Given the description of an element on the screen output the (x, y) to click on. 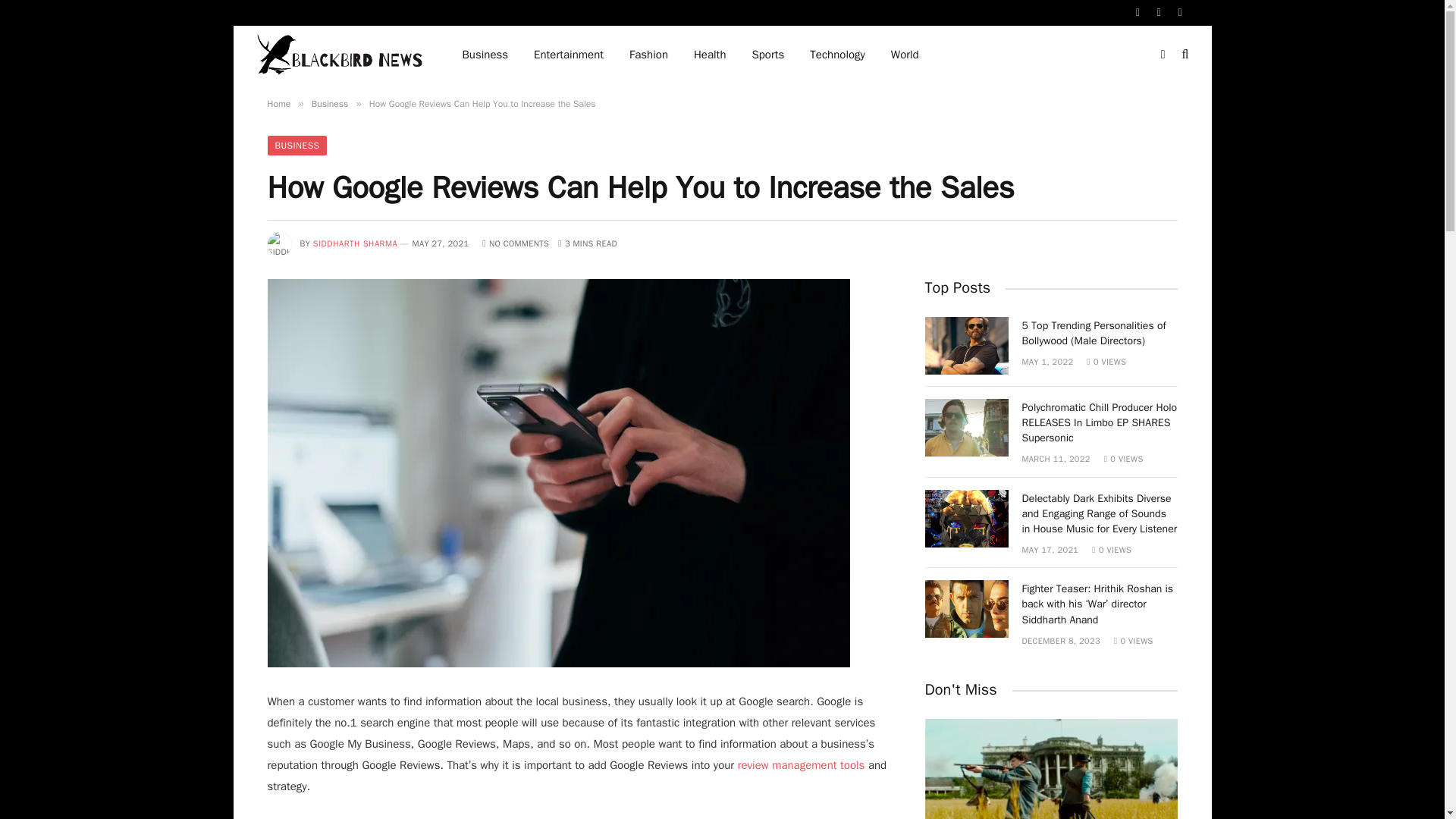
Sports (767, 54)
Posts by Siddharth Sharma (355, 243)
Business (329, 103)
Switch to Dark Design - easier on eyes. (1163, 54)
World (904, 54)
SIDDHARTH SHARMA (355, 243)
NO COMMENTS (514, 243)
Health (710, 54)
Fashion (648, 54)
BUSINESS (296, 145)
Entertainment (568, 54)
Business (485, 54)
Technology (836, 54)
Blackbird News (339, 54)
